Given the description of an element on the screen output the (x, y) to click on. 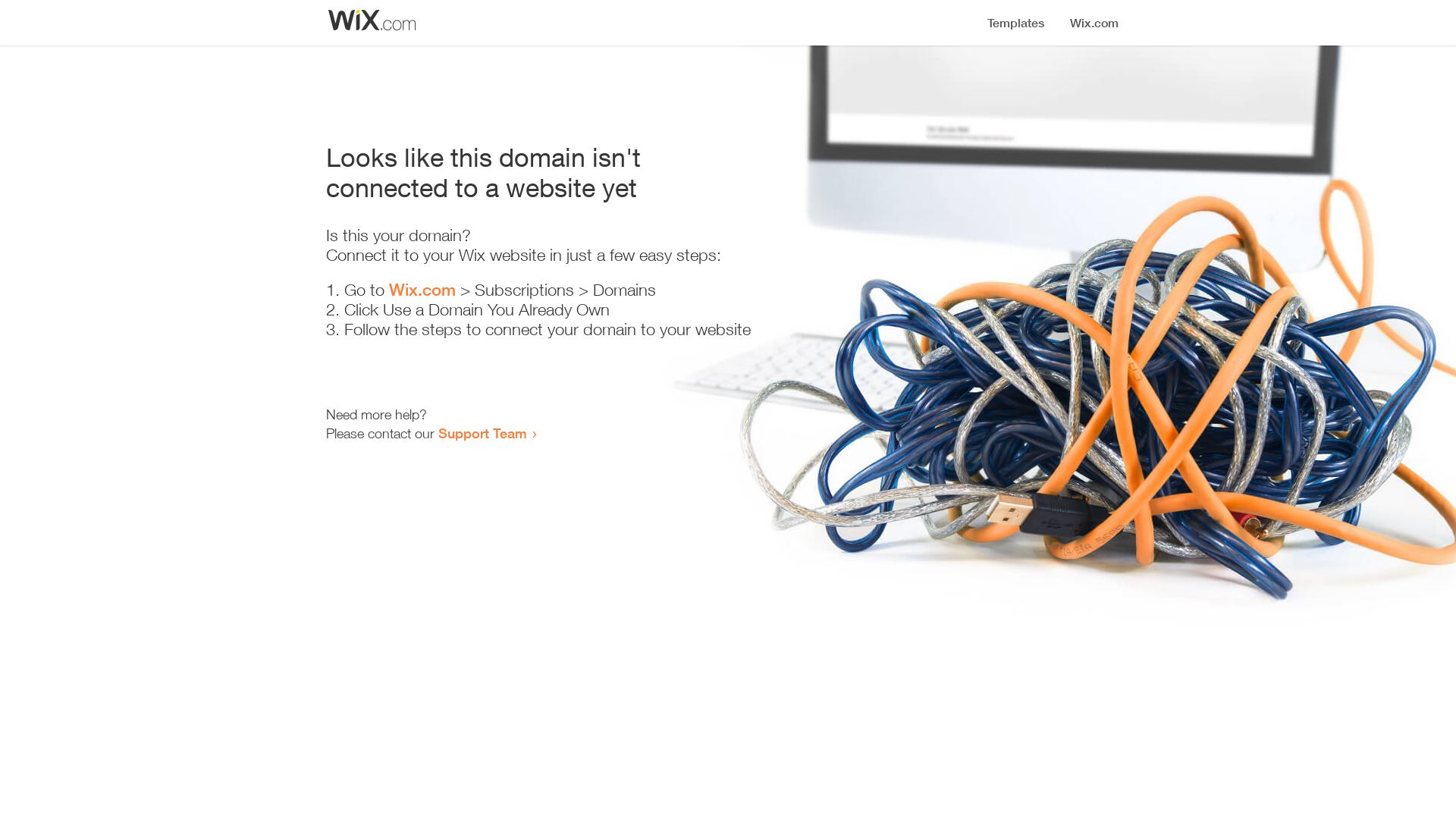
Wix.com Element type: text (422, 289)
Support Team Element type: text (482, 432)
